Given the description of an element on the screen output the (x, y) to click on. 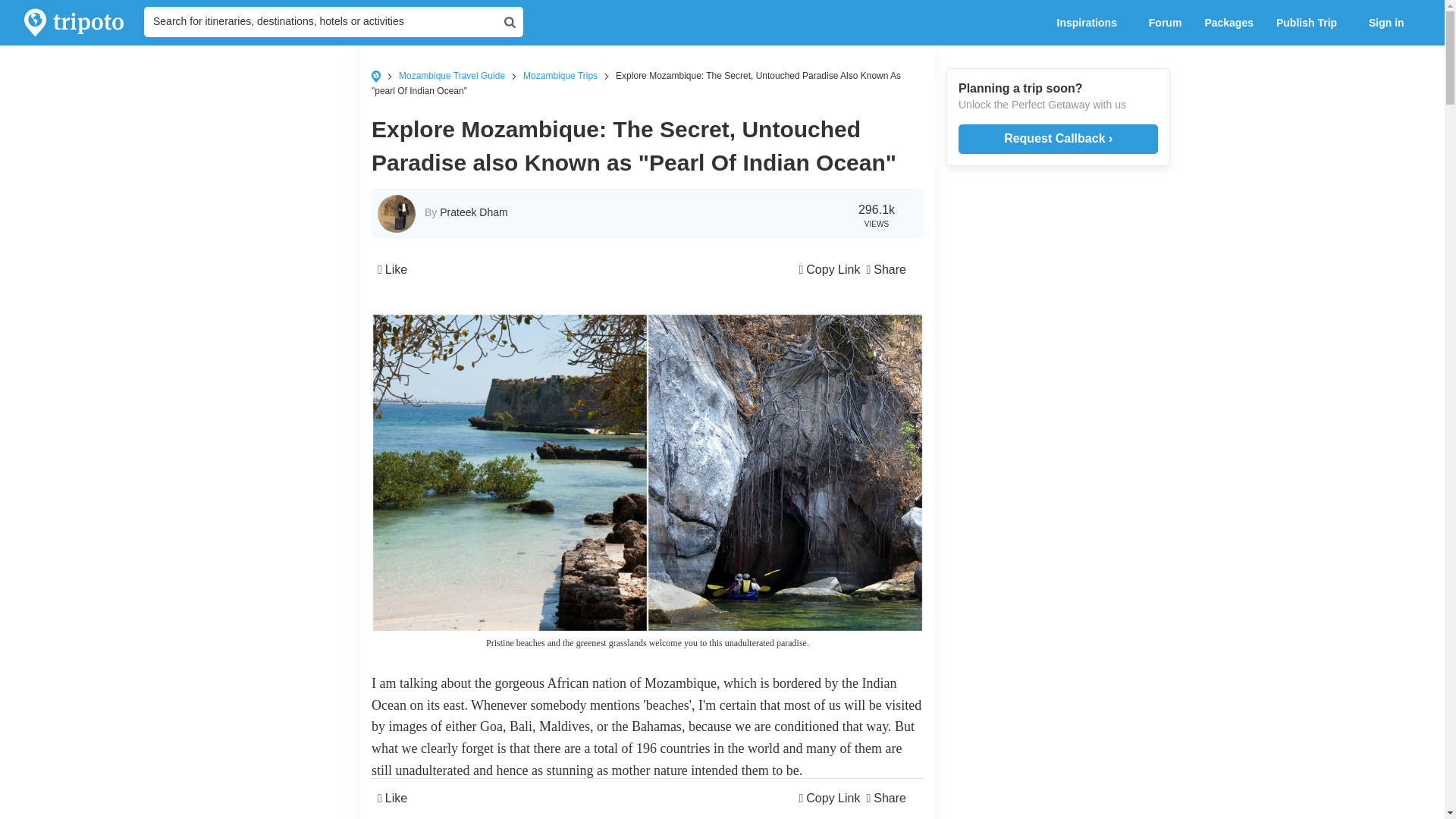
Forum (1165, 22)
Mozambique Travel Guide (451, 75)
Sign in (1394, 22)
By Prateek Dham (466, 211)
Inspirations (1091, 22)
Packages (1228, 22)
Forum (1165, 22)
Publish Trip  (1310, 22)
Inspirations (1091, 22)
Publish Trip (1310, 22)
Packages (1228, 22)
Tripoto: India's Largest Community of Travellers (73, 22)
Mozambique Trips (559, 75)
